Given the description of an element on the screen output the (x, y) to click on. 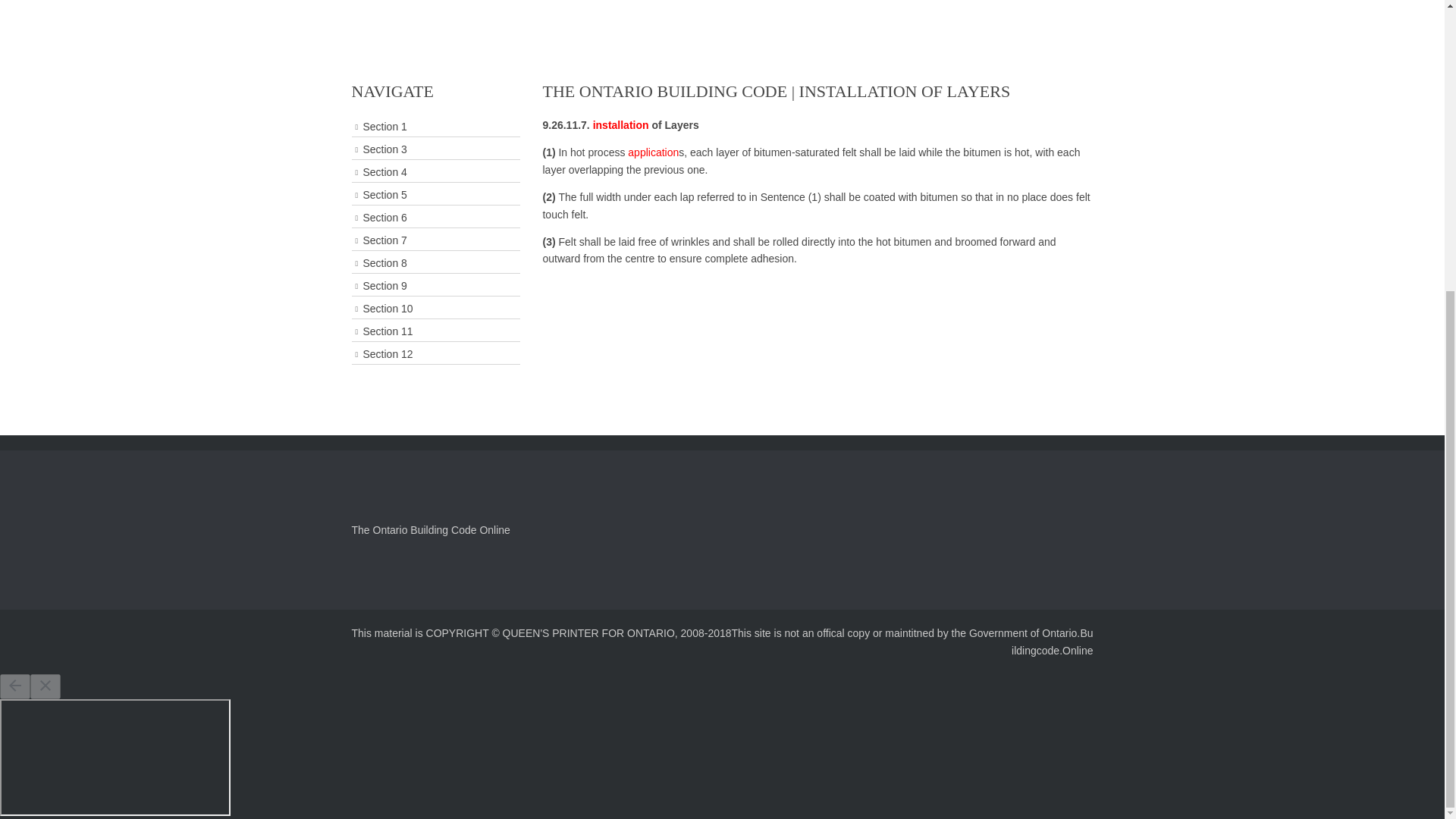
Section 1 (435, 127)
Section 12 (435, 353)
Section 7 (435, 240)
Advertisement (721, 6)
installation (620, 124)
Business Services in Toronto (652, 152)
application (652, 152)
Section 5 (435, 195)
Section 6 (435, 218)
Sprayfoam insulation in Toronto (620, 124)
Section 10 (435, 308)
Section 9 (435, 286)
Buildingcode.Online (1052, 641)
Section 11 (435, 331)
Section 4 (435, 172)
